Given the description of an element on the screen output the (x, y) to click on. 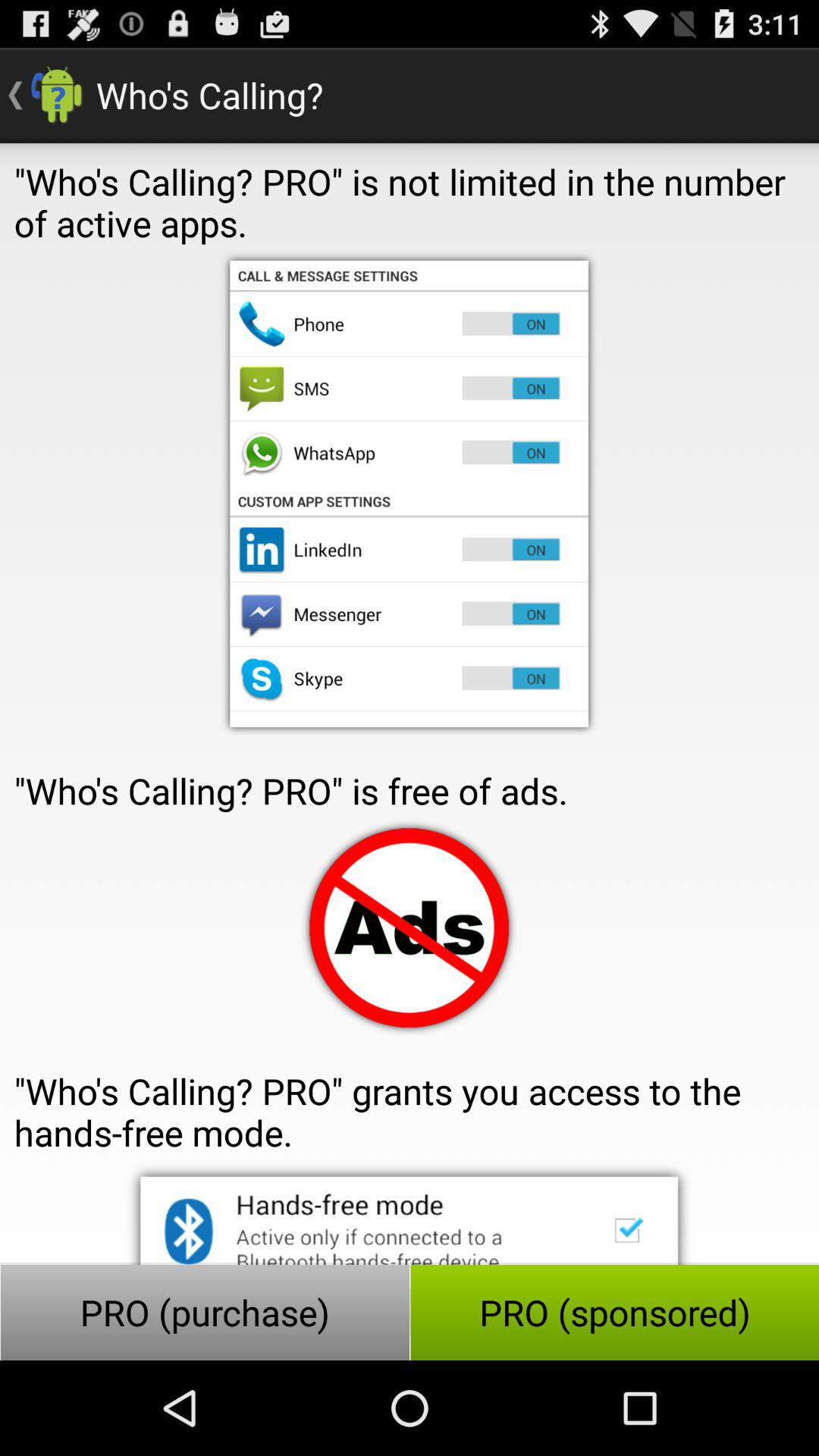
click the pro (sponsored) at the bottom right corner (614, 1312)
